Given the description of an element on the screen output the (x, y) to click on. 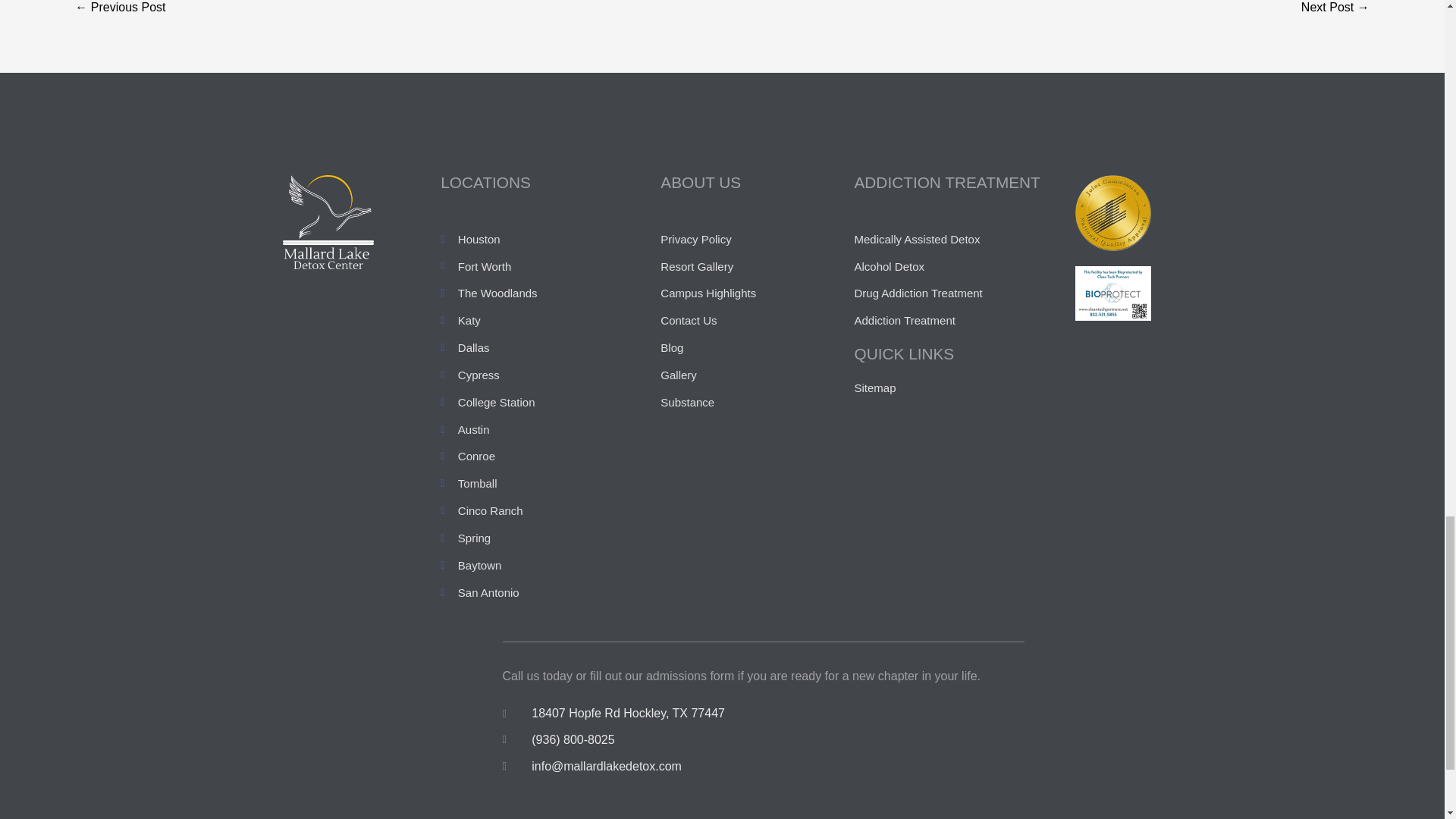
Fighting Xanax Addiction in Dallas, Texas (1334, 11)
Timeline for Xanax Withdrawals near Dallas, Texas (1113, 212)
Timeline for Xanax Withdrawals near Dallas, Texas (1113, 293)
Where to Get Xanax Addiction Treatment near Dallas, Texas (119, 11)
Timeline for Xanax Withdrawals near Dallas, Texas (327, 222)
